Given the description of an element on the screen output the (x, y) to click on. 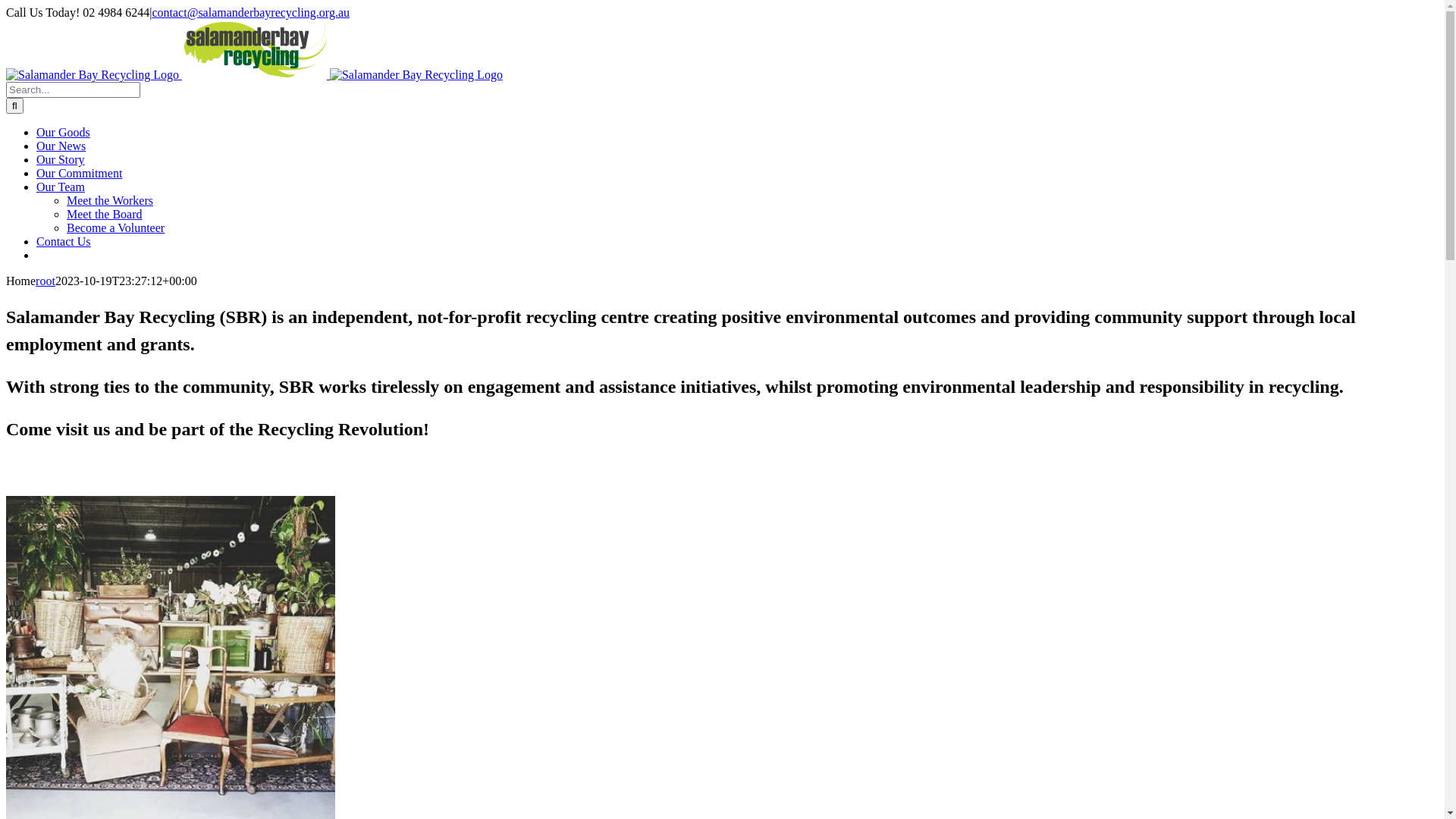
Become a Volunteer Element type: text (115, 227)
Meet the Board Element type: text (104, 213)
Our Commitment Element type: text (79, 172)
Contact Us Element type: text (63, 241)
Our Team Element type: text (60, 186)
Our Goods Element type: text (63, 131)
Our Story Element type: text (60, 159)
contact@salamanderbayrecycling.org.au Element type: text (250, 12)
Meet the Workers Element type: text (109, 200)
Our News Element type: text (60, 145)
Skip to content Element type: text (5, 5)
root Element type: text (45, 280)
